Given the description of an element on the screen output the (x, y) to click on. 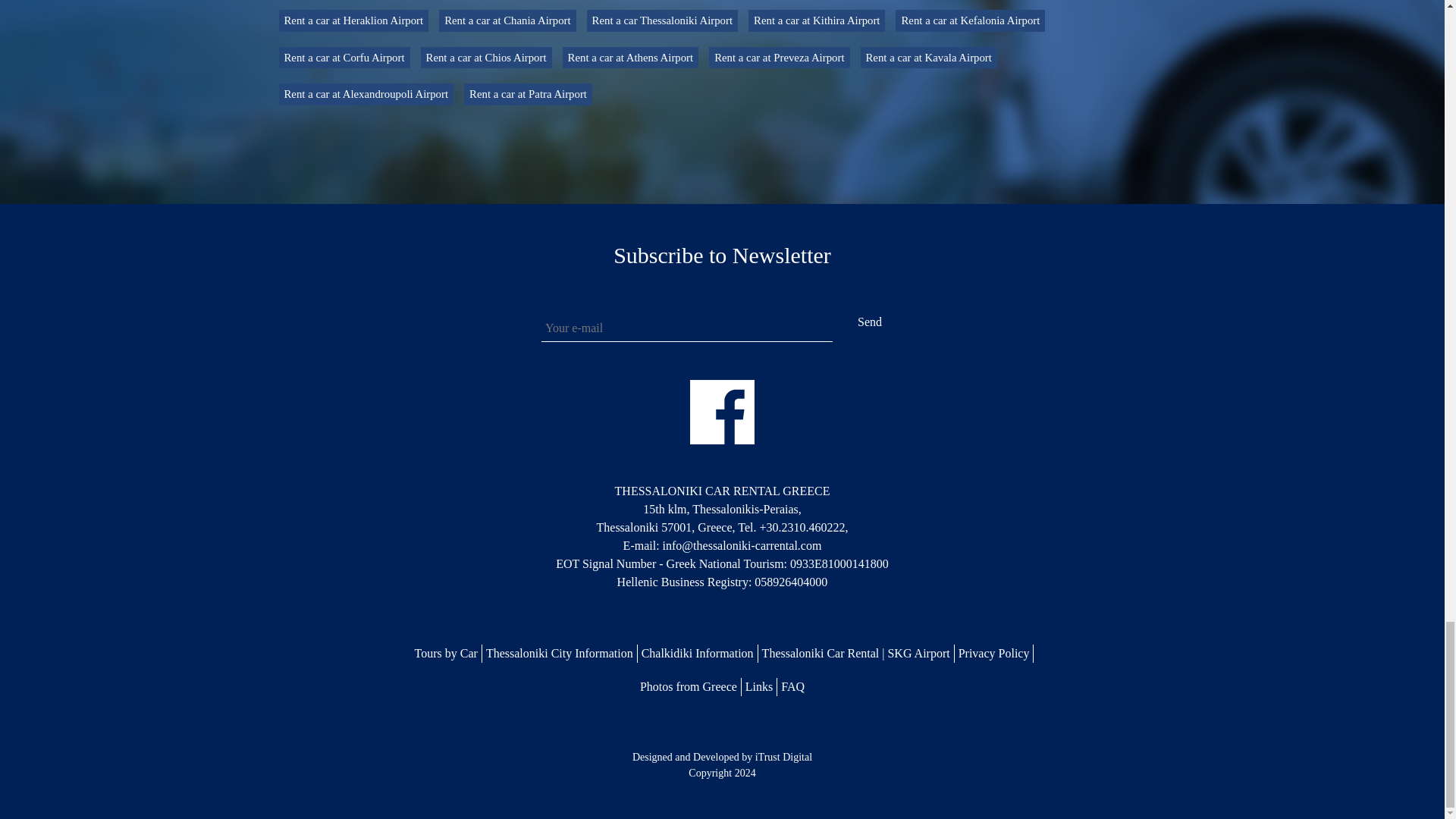
Send (869, 322)
